Given the description of an element on the screen output the (x, y) to click on. 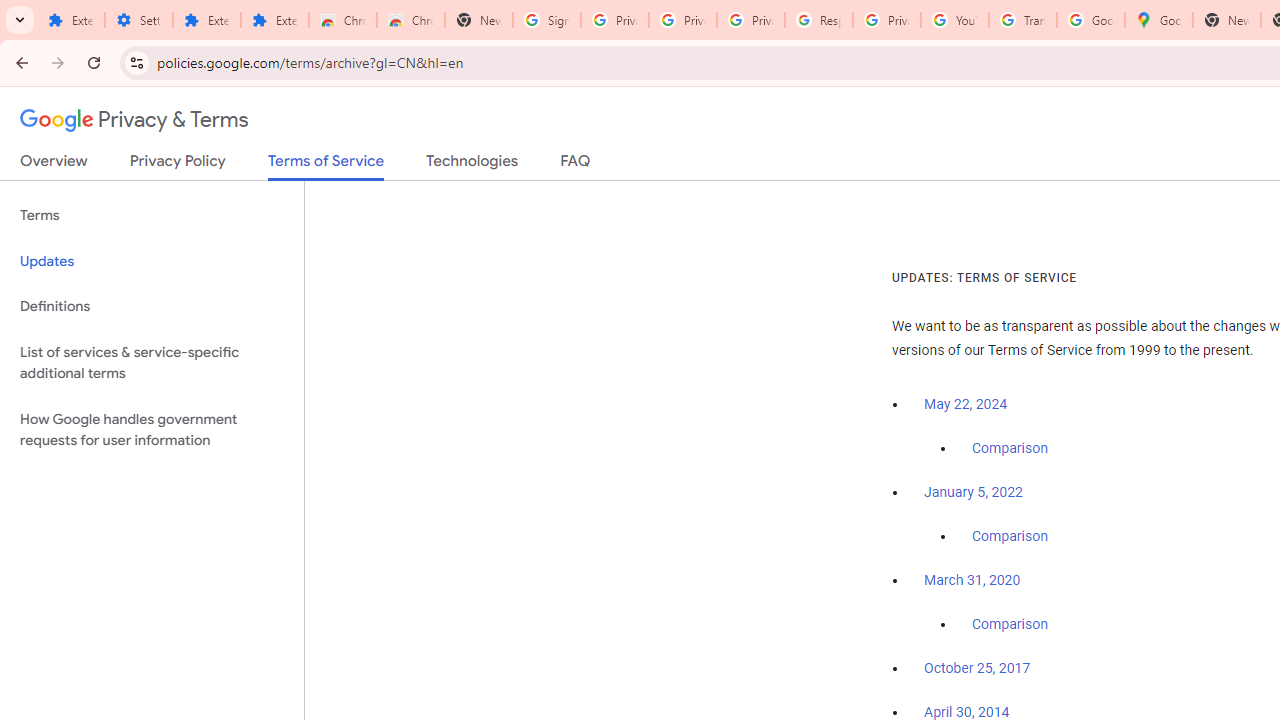
YouTube (954, 20)
May 22, 2024 (966, 404)
New Tab (479, 20)
New Tab (1226, 20)
Extensions (70, 20)
